Given the description of an element on the screen output the (x, y) to click on. 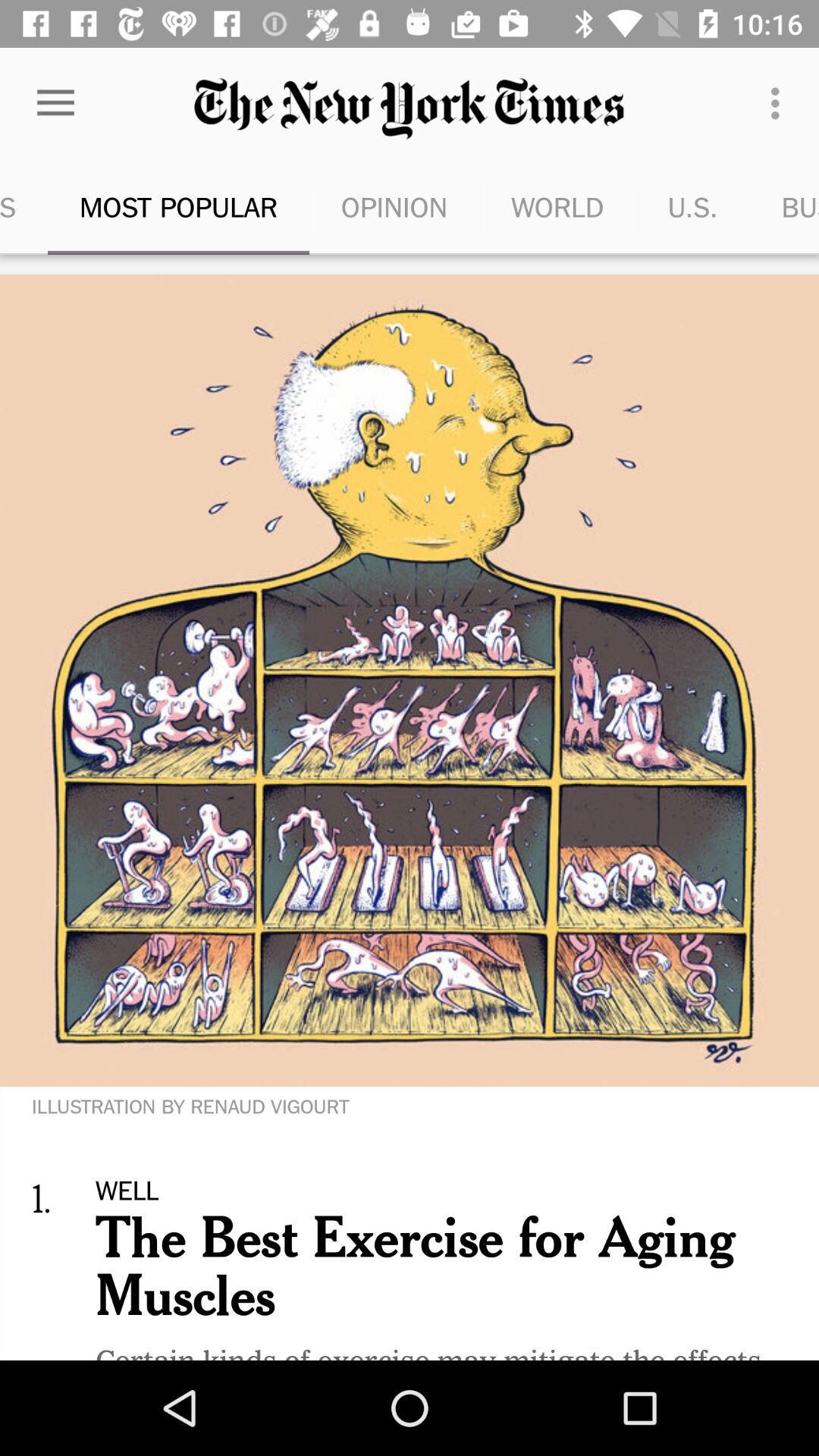
scroll to u.s. (692, 206)
